Given the description of an element on the screen output the (x, y) to click on. 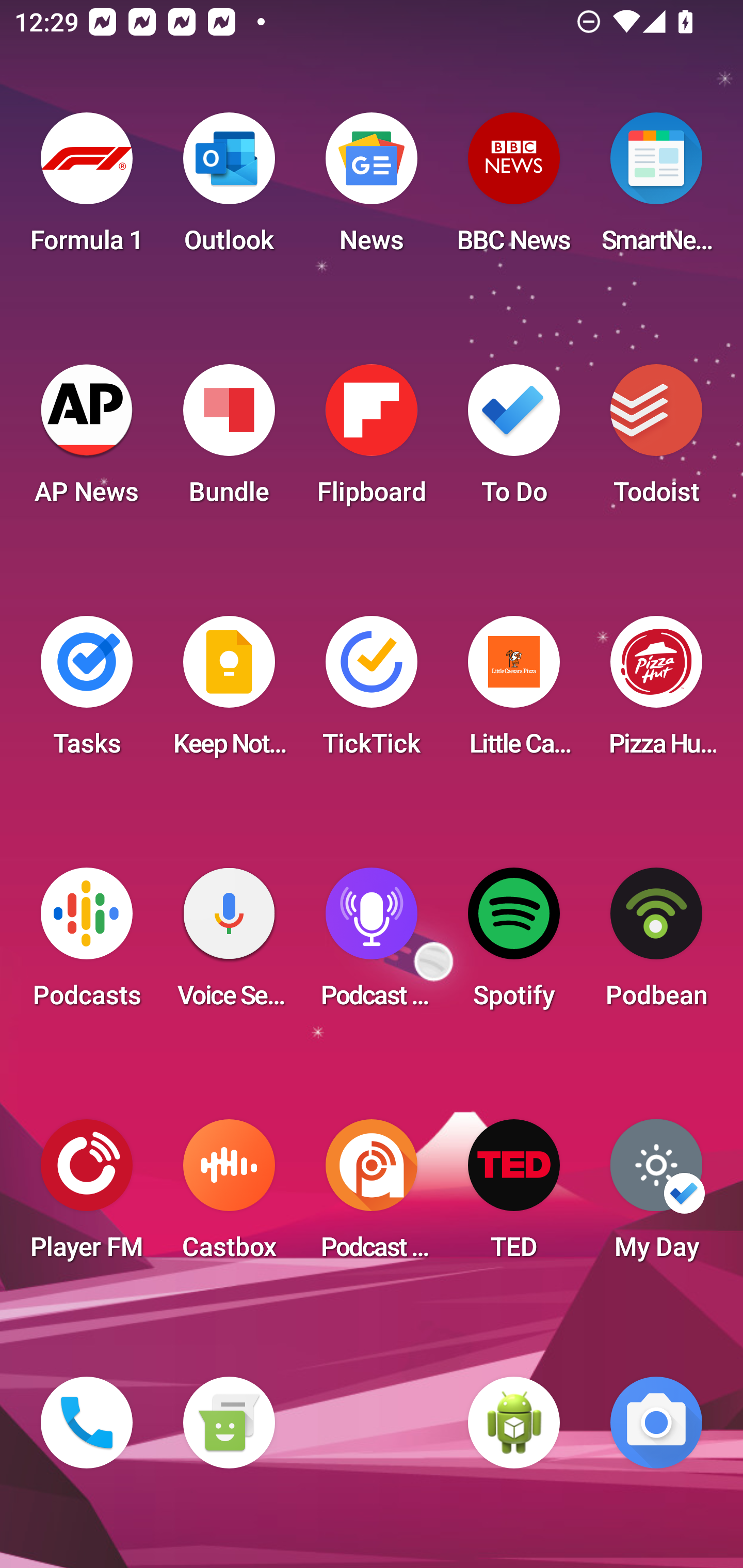
Formula 1 (86, 188)
Outlook (228, 188)
News (371, 188)
BBC News (513, 188)
SmartNews (656, 188)
AP News (86, 440)
Bundle (228, 440)
Flipboard (371, 440)
To Do (513, 440)
Todoist (656, 440)
Tasks (86, 692)
Keep Notes (228, 692)
TickTick (371, 692)
Little Caesars Pizza (513, 692)
Pizza Hut HK & Macau (656, 692)
Podcasts (86, 943)
Voice Search (228, 943)
Podcast Player (371, 943)
Spotify (513, 943)
Podbean (656, 943)
Player FM (86, 1195)
Castbox (228, 1195)
Podcast Addict (371, 1195)
TED (513, 1195)
My Day (656, 1195)
Phone (86, 1422)
Messaging (228, 1422)
WebView Browser Tester (513, 1422)
Camera (656, 1422)
